Given the description of an element on the screen output the (x, y) to click on. 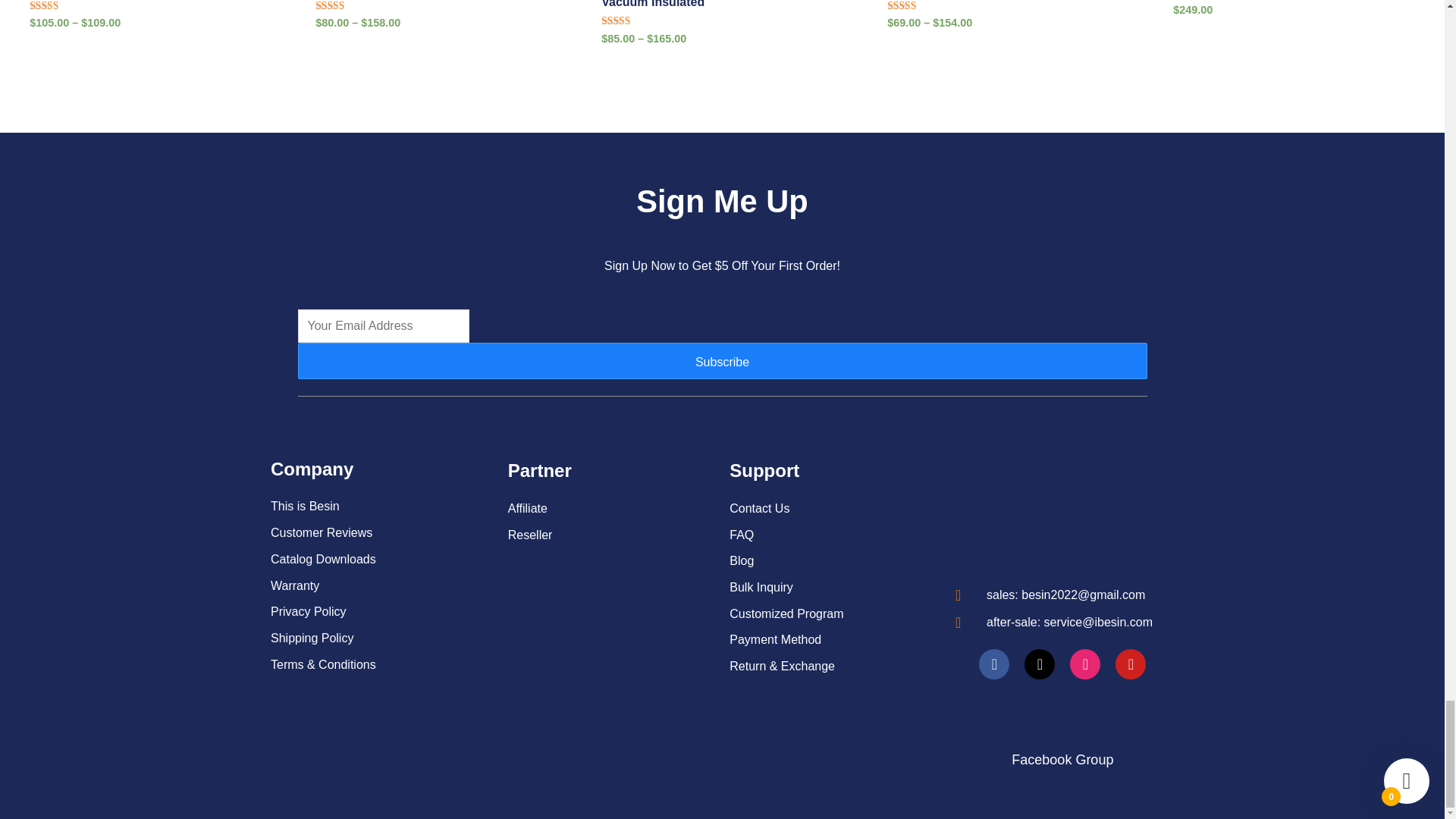
Besin-tumblers-wholesaler-logo (1062, 511)
